Given the description of an element on the screen output the (x, y) to click on. 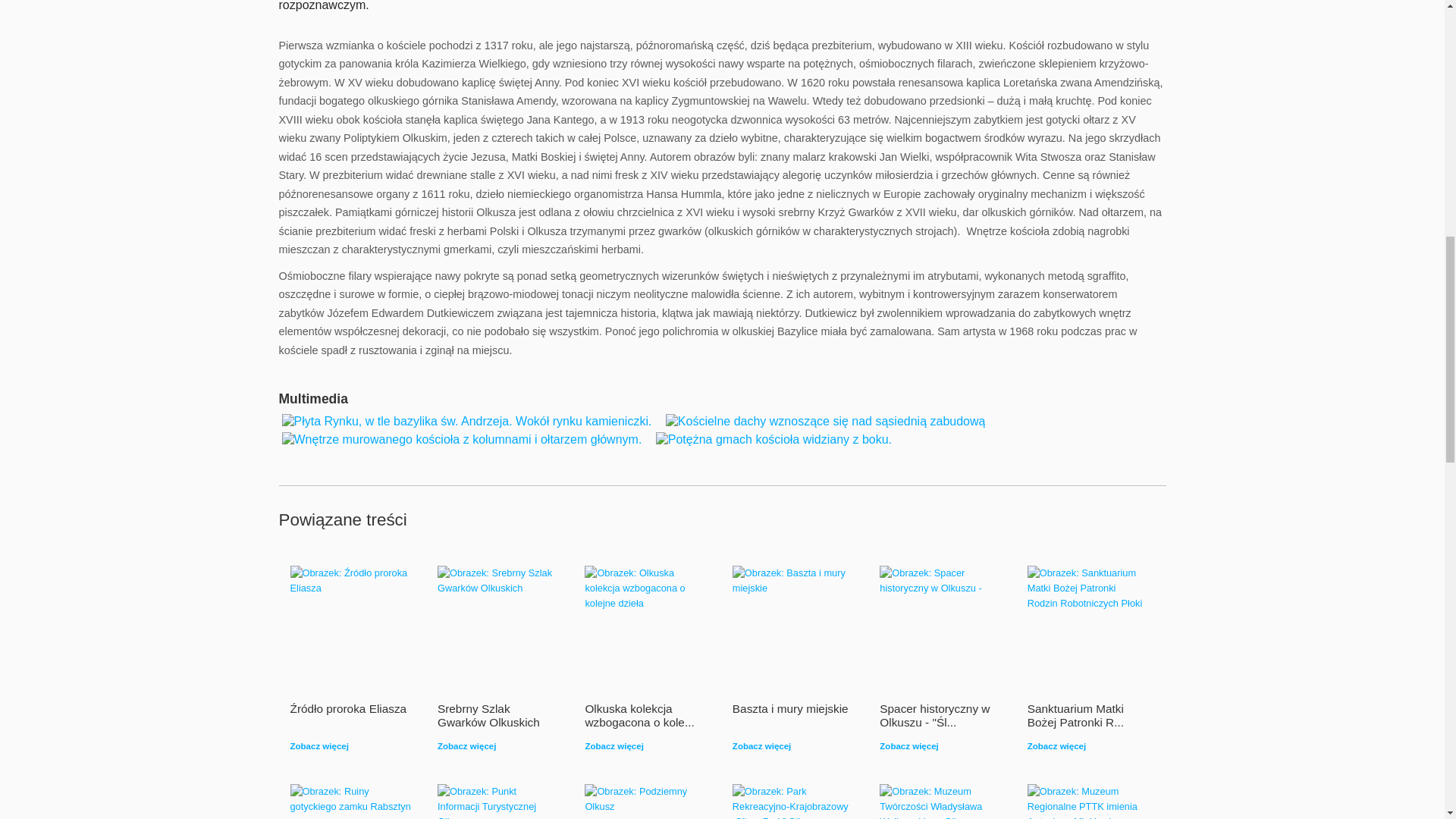
Punkt Informacji Turystycznej Olkusz (498, 801)
Ruiny gotyckiego zamku Rabsztyn (349, 798)
Podziemny Olkusz (645, 798)
Baszta i mury miejskie (792, 580)
